Given the description of an element on the screen output the (x, y) to click on. 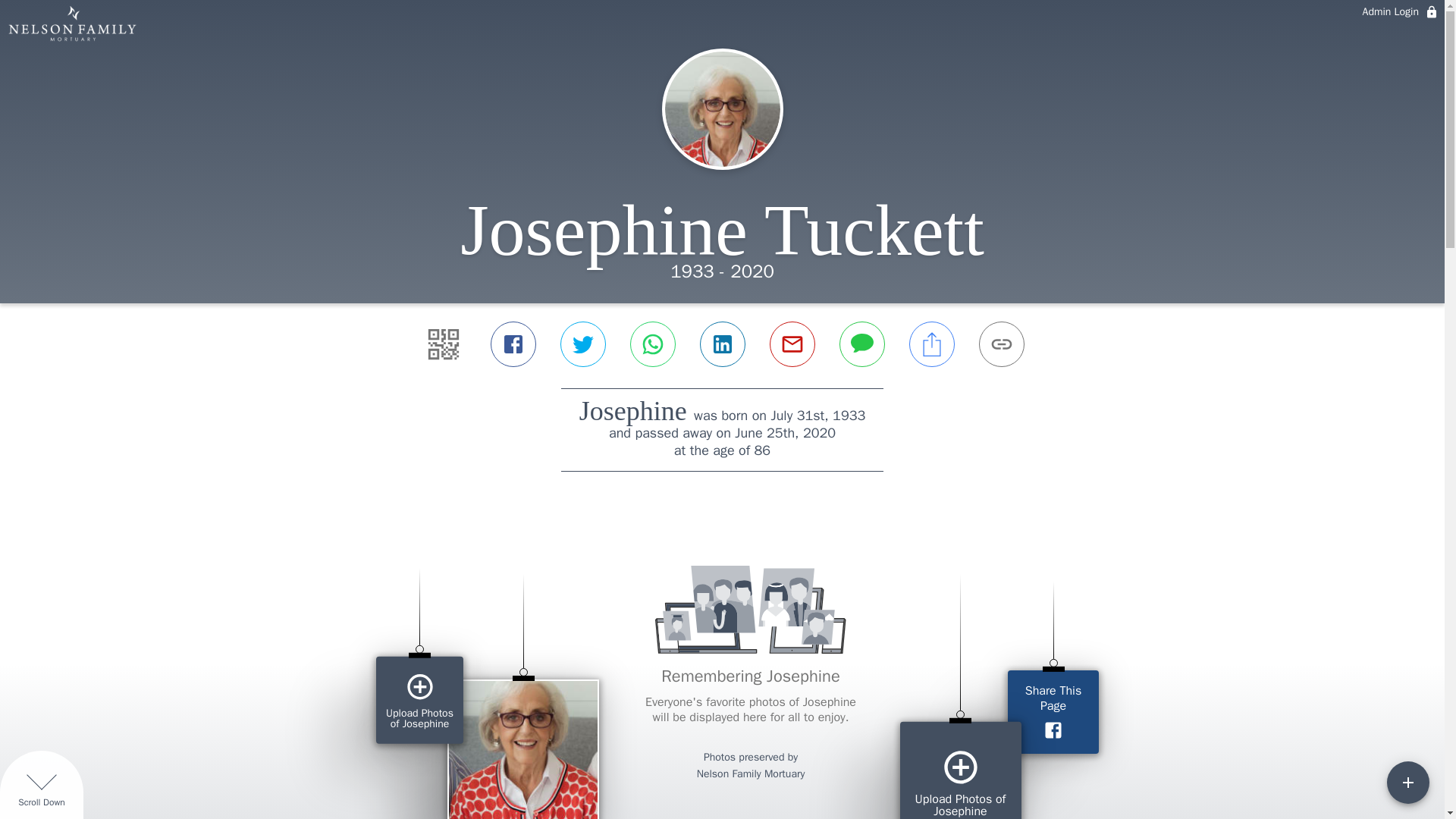
Upload Photos of Josephine (419, 699)
Upload Photos of Josephine (959, 770)
Share This Page (1053, 711)
